Given the description of an element on the screen output the (x, y) to click on. 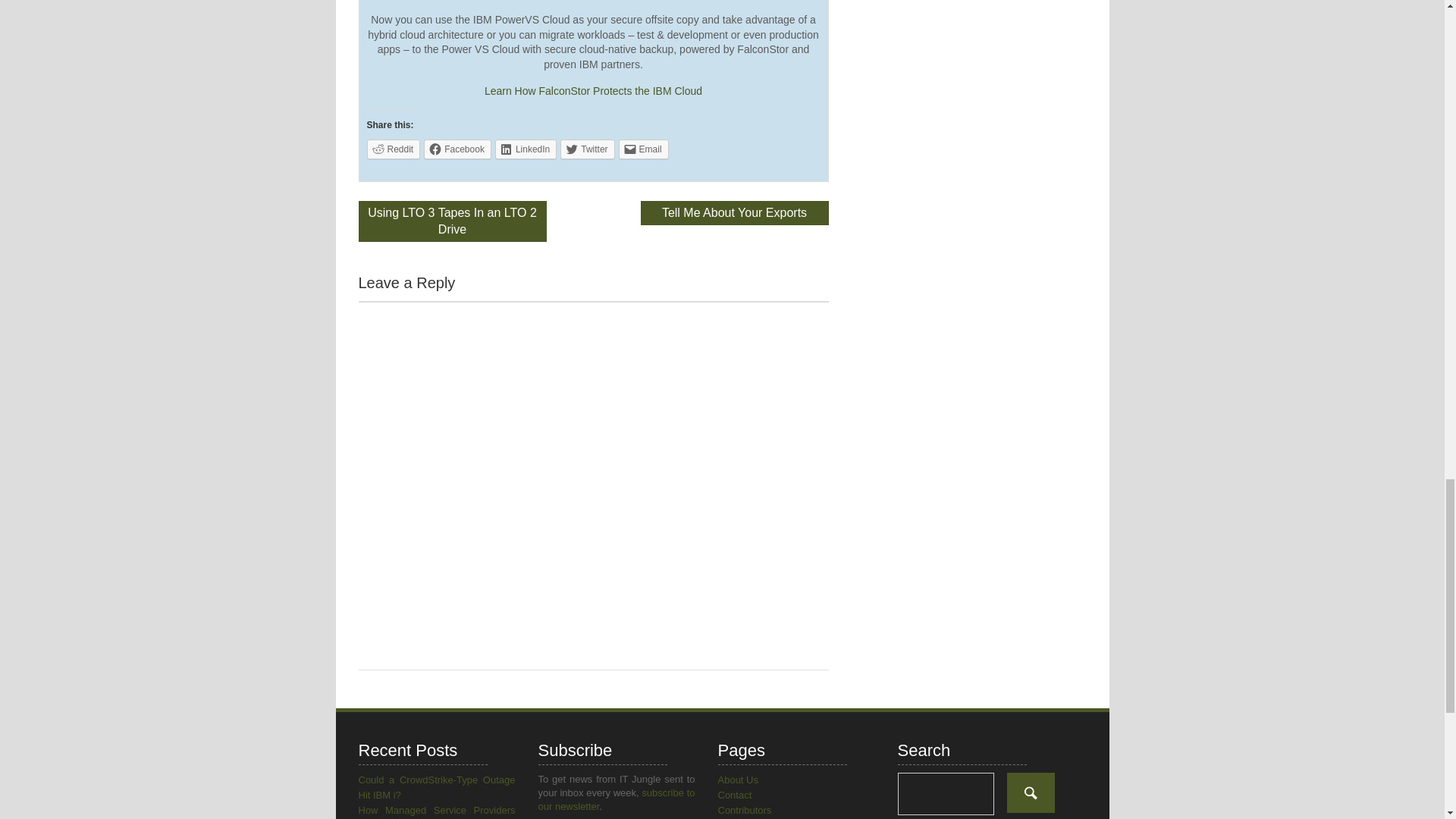
Click to email a link to a friend (643, 148)
Click to share on Reddit (393, 148)
Click to share on Facebook (457, 148)
Click to share on Twitter (587, 148)
Click to share on LinkedIn (525, 148)
Search (1030, 793)
